Given the description of an element on the screen output the (x, y) to click on. 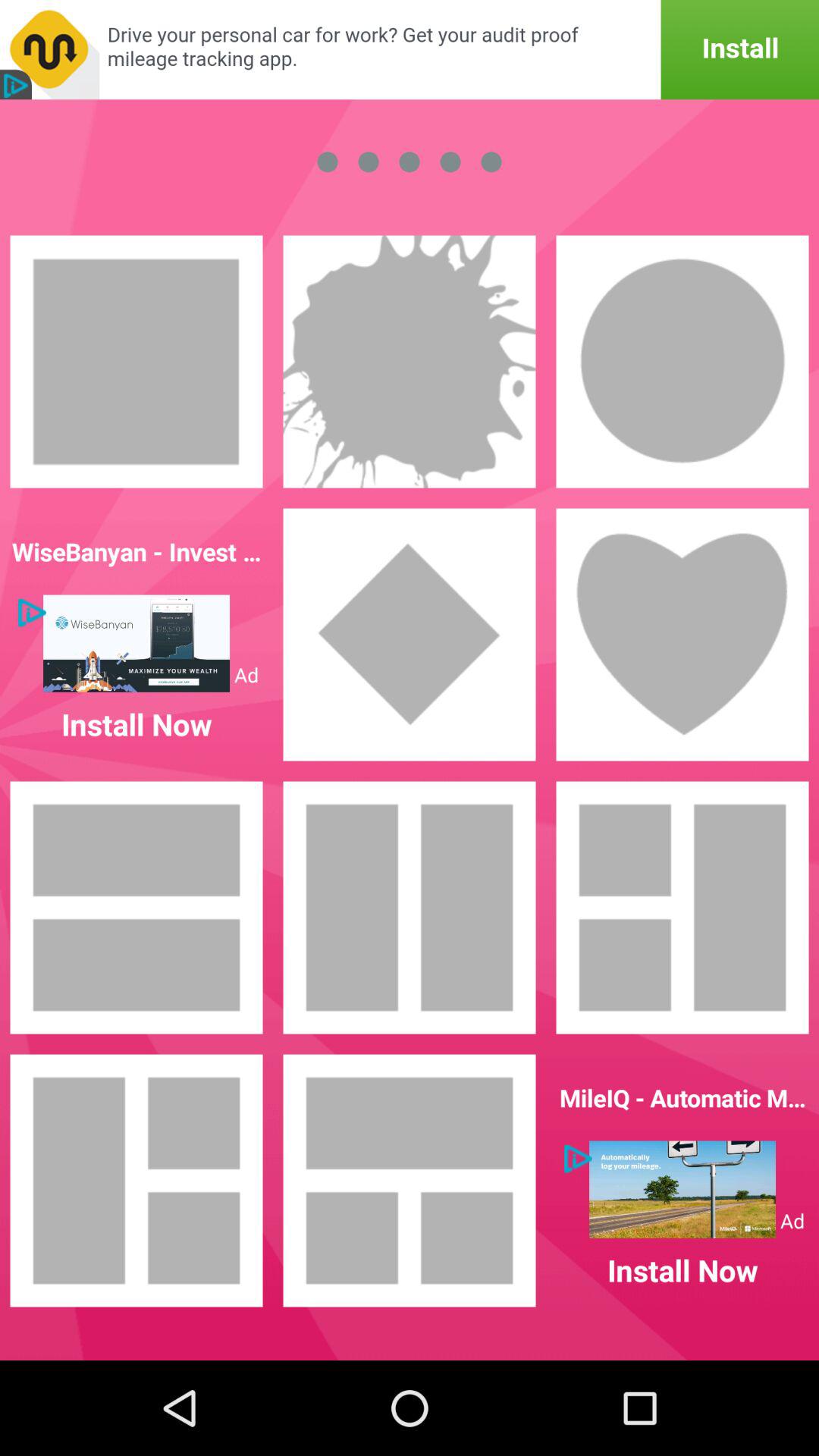
select this collage layout (409, 1180)
